Given the description of an element on the screen output the (x, y) to click on. 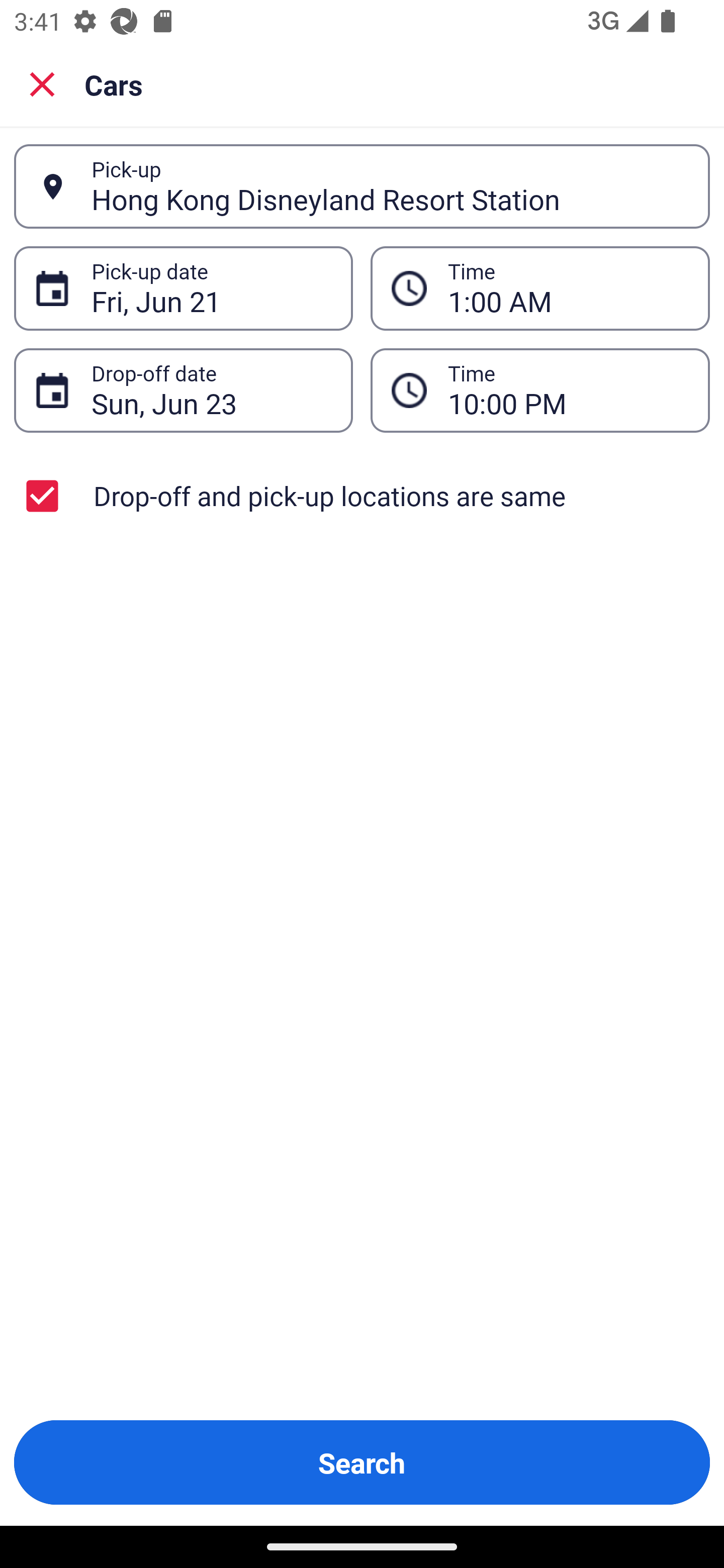
Close search screen (41, 83)
Hong Kong Disneyland Resort Station Pick-up (361, 186)
Hong Kong Disneyland Resort Station (389, 186)
Fri, Jun 21 Pick-up date (183, 288)
1:00 AM (540, 288)
Fri, Jun 21 (211, 288)
1:00 AM (568, 288)
Sun, Jun 23 Drop-off date (183, 390)
10:00 PM (540, 390)
Sun, Jun 23 (211, 390)
10:00 PM (568, 390)
Drop-off and pick-up locations are same (361, 495)
Search Button Search (361, 1462)
